Given the description of an element on the screen output the (x, y) to click on. 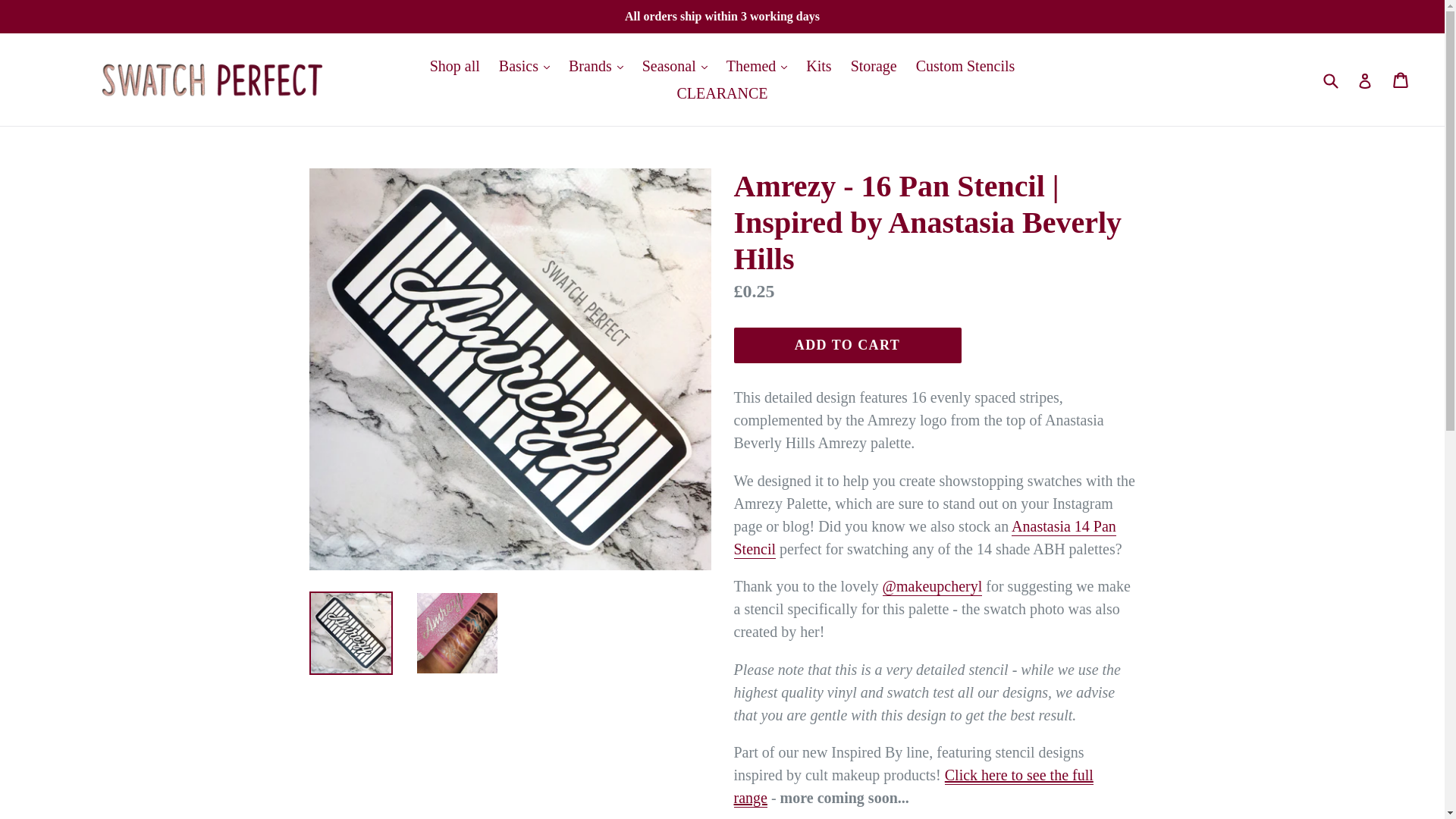
Anastasia 14 Pan Stencil (924, 537)
MakeupCheryl on Instagram (932, 587)
Inspired By range (913, 786)
